Given the description of an element on the screen output the (x, y) to click on. 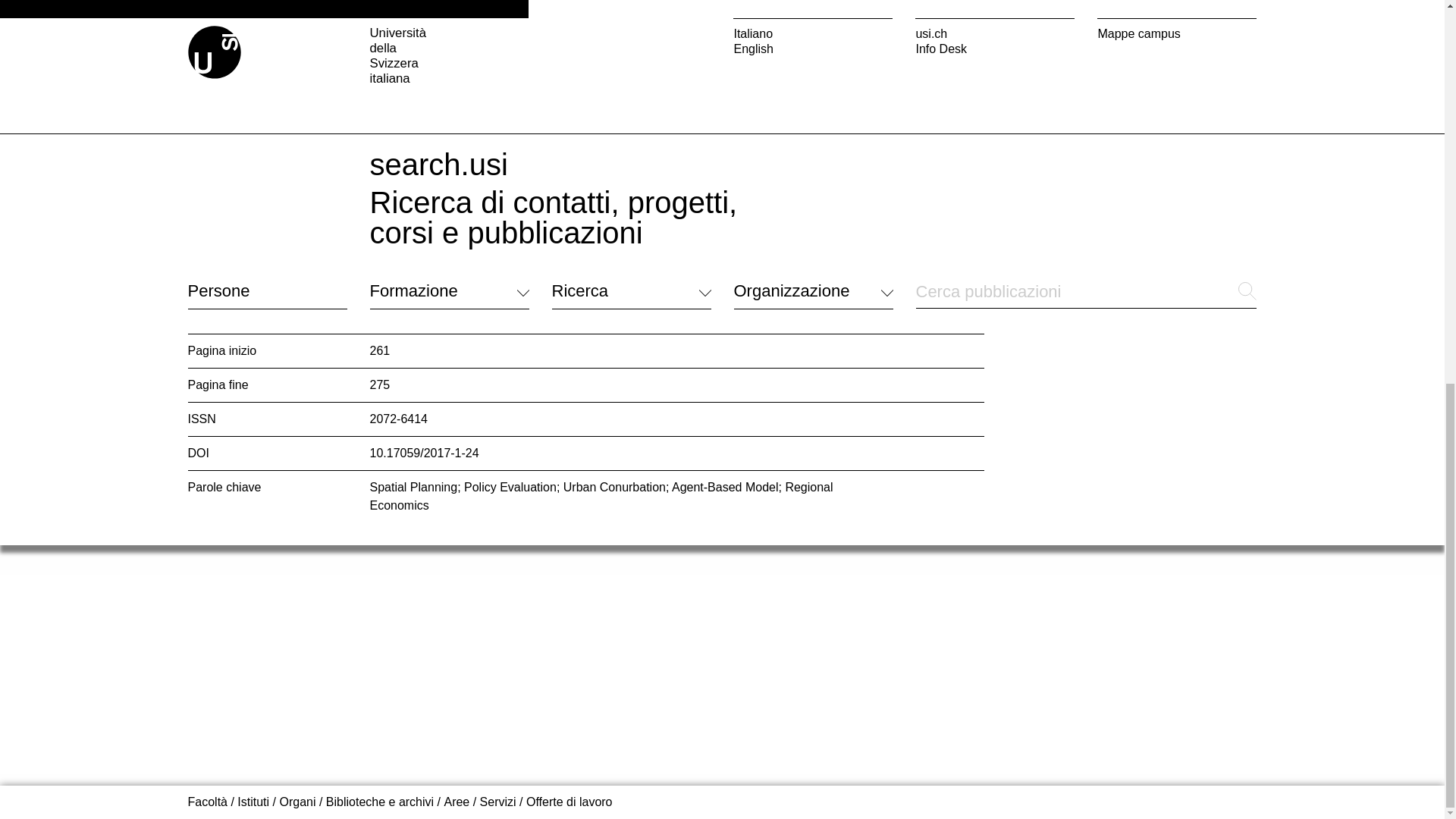
Sito web (1132, 11)
PDF (1132, 107)
Feedback sul sito (234, 6)
